Given the description of an element on the screen output the (x, y) to click on. 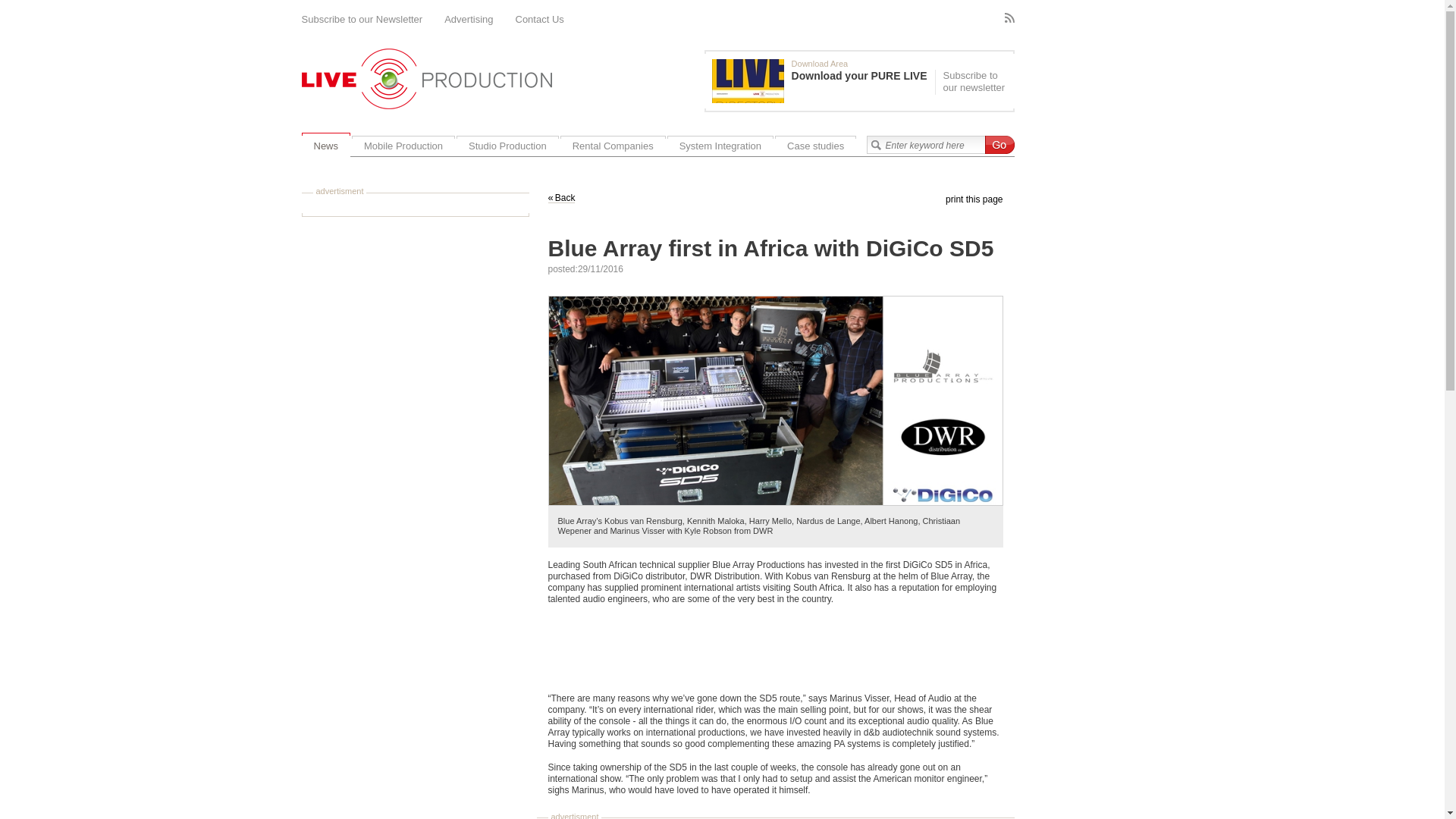
Go (998, 144)
Contact Us (539, 19)
Advertising (468, 19)
PURE LIVE 2018 (747, 80)
Subscribe to our Newsletter (362, 19)
RSS (1008, 17)
Publication (822, 80)
Subscribe to our newsletter (972, 82)
